Given the description of an element on the screen output the (x, y) to click on. 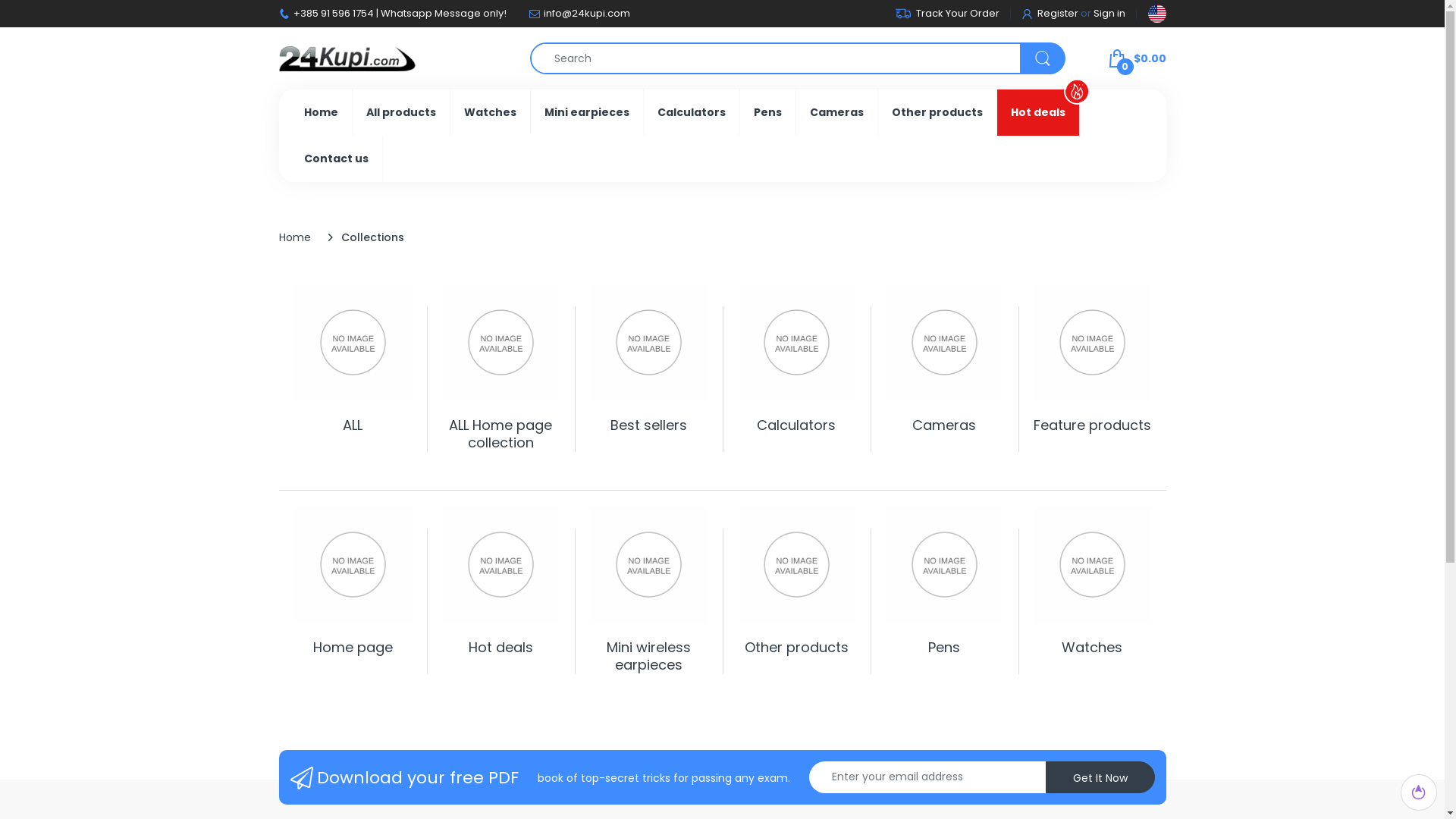
Home Element type: text (320, 112)
Register Element type: text (1050, 13)
Mini wireless earpieces Element type: text (648, 655)
Hot deals Element type: text (500, 646)
Sign in Element type: text (1109, 13)
Home page Element type: text (352, 646)
Track Your Order Element type: text (946, 13)
Calculators Element type: text (690, 112)
Pens Element type: text (944, 646)
Home Element type: text (294, 237)
Cameras Element type: text (943, 424)
info@24kupi.com Element type: text (585, 13)
Contact us Element type: text (335, 158)
All products Element type: text (399, 112)
Get It Now Element type: text (1099, 777)
ALL Element type: text (352, 424)
Cameras Element type: text (836, 112)
Best sellers Element type: text (647, 424)
Watches Element type: text (1091, 646)
0
$0.00 Element type: text (1136, 58)
24kupi Element type: hover (347, 57)
Mini earpieces Element type: text (586, 112)
Other products Element type: text (796, 646)
Watches Element type: text (490, 112)
Feature products Element type: text (1091, 424)
+385 91 596 1754 | Whatsapp Message only! Element type: text (398, 13)
Hot deals Element type: text (1037, 112)
Pens Element type: text (767, 112)
ALL Home page collection Element type: text (500, 433)
Calculators Element type: text (795, 424)
Other products Element type: text (937, 112)
